Given the description of an element on the screen output the (x, y) to click on. 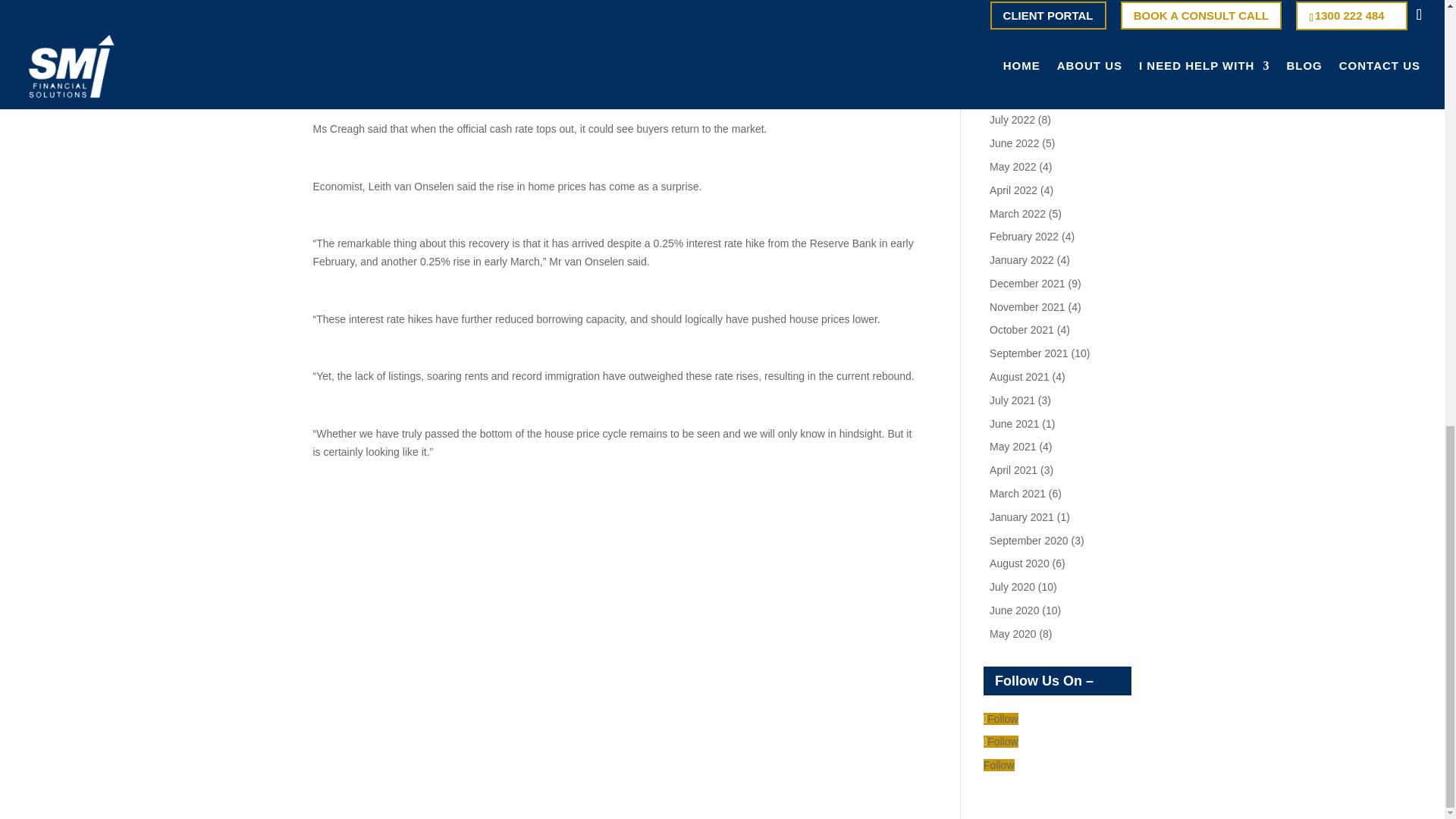
December 2022 (1027, 4)
November 2022 (1027, 26)
October 2022 (1022, 50)
Follow on LinkedIn (998, 765)
Follow on Facebook (1000, 741)
September 2022 (1029, 73)
August 2022 (1019, 96)
Follow on Instagram (1000, 718)
